Given the description of an element on the screen output the (x, y) to click on. 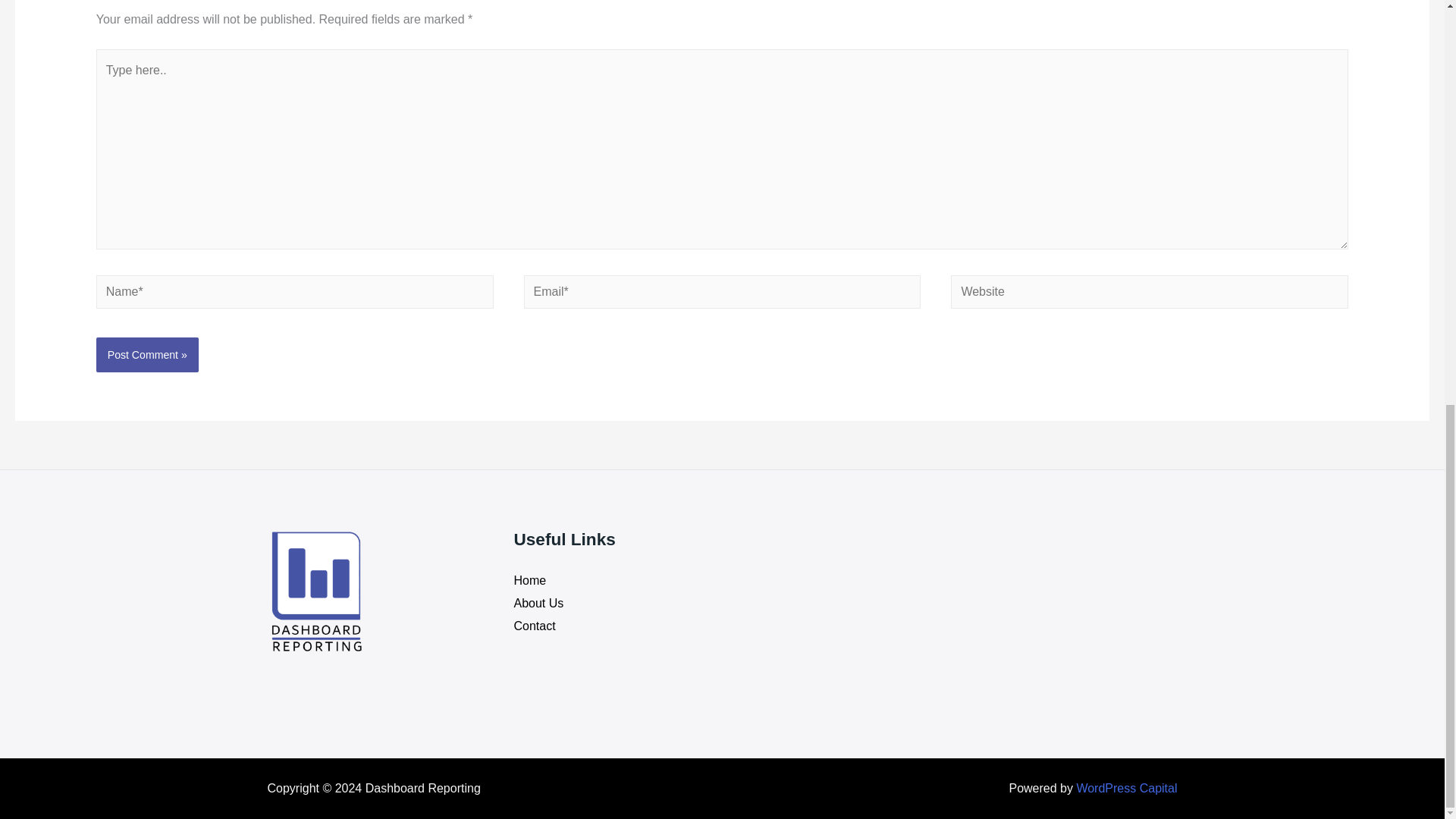
Home (530, 580)
About Us (538, 603)
Contact (534, 625)
WordPress Capital (1125, 788)
